Given the description of an element on the screen output the (x, y) to click on. 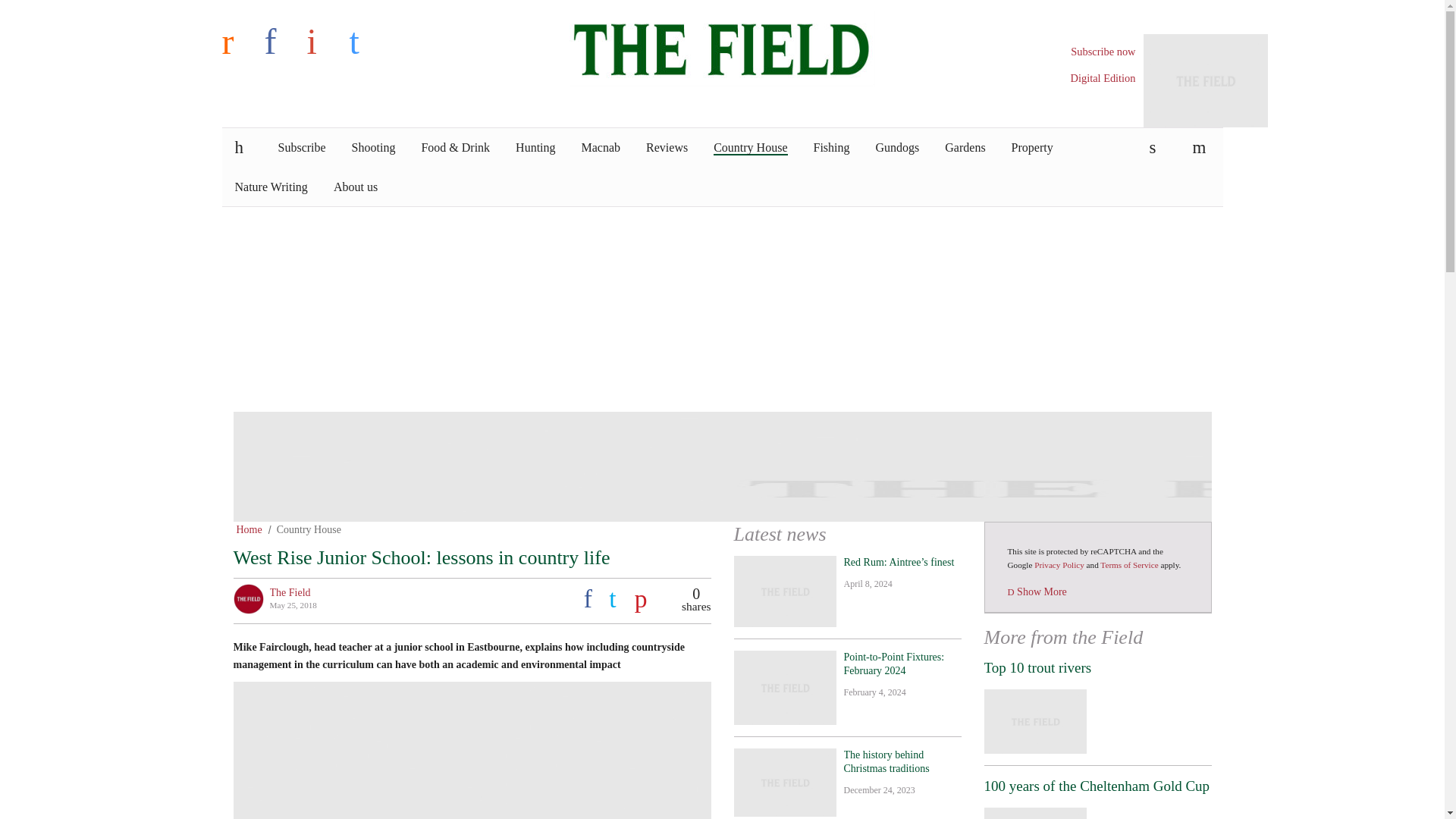
The Field (722, 47)
t (367, 41)
Hunting (534, 147)
Macnab (601, 147)
Digital Edition (1102, 78)
Country House (749, 147)
Subscribe (301, 147)
Shooting (374, 147)
Gardens (964, 147)
The Field (722, 47)
